Given the description of an element on the screen output the (x, y) to click on. 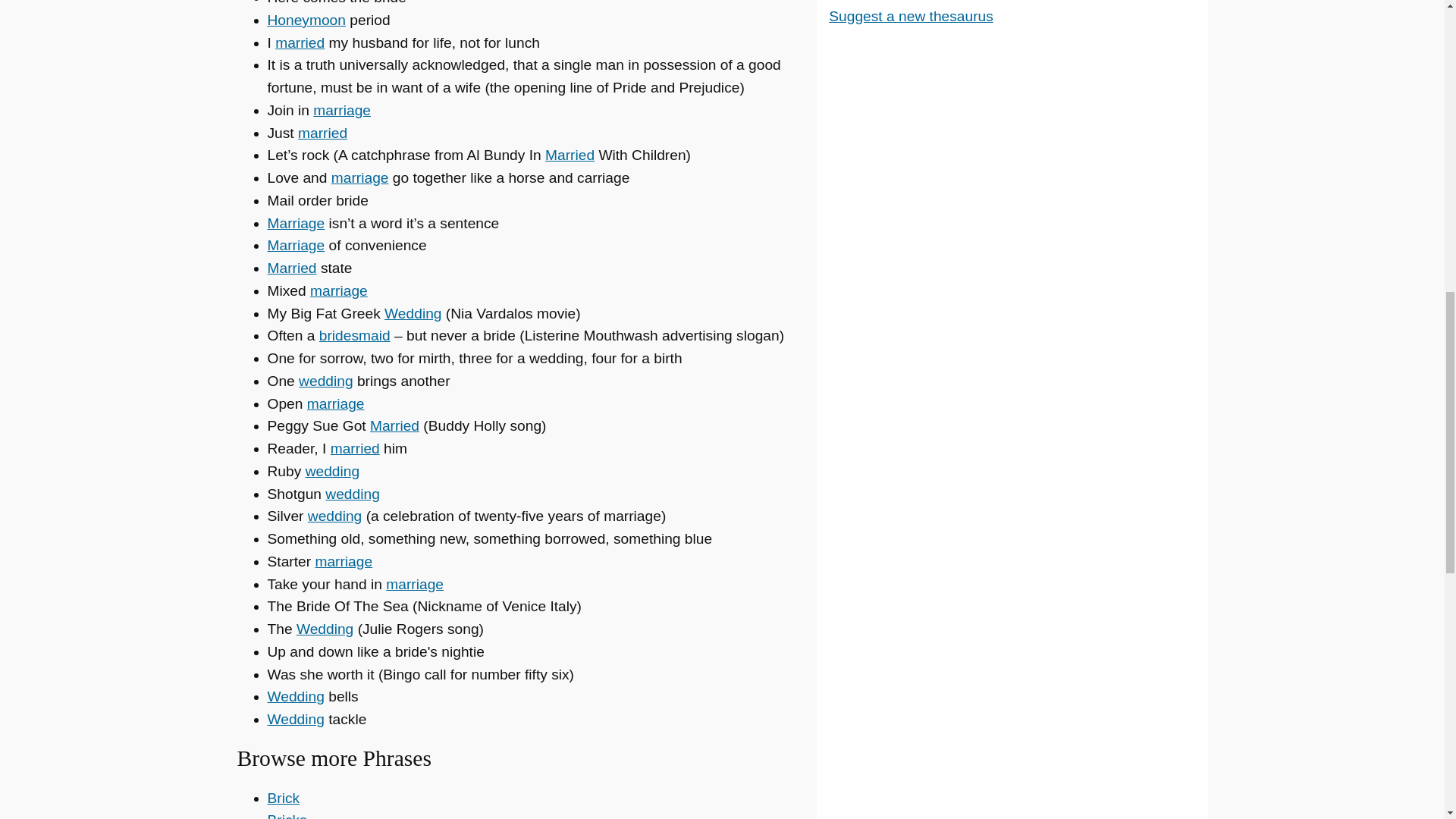
Wedding (294, 696)
Married (290, 268)
married (355, 448)
Married (569, 154)
Marriage (295, 222)
marriage (359, 177)
bridesmaid (354, 335)
marriage (414, 584)
Wedding (325, 628)
Married (394, 425)
